Given the description of an element on the screen output the (x, y) to click on. 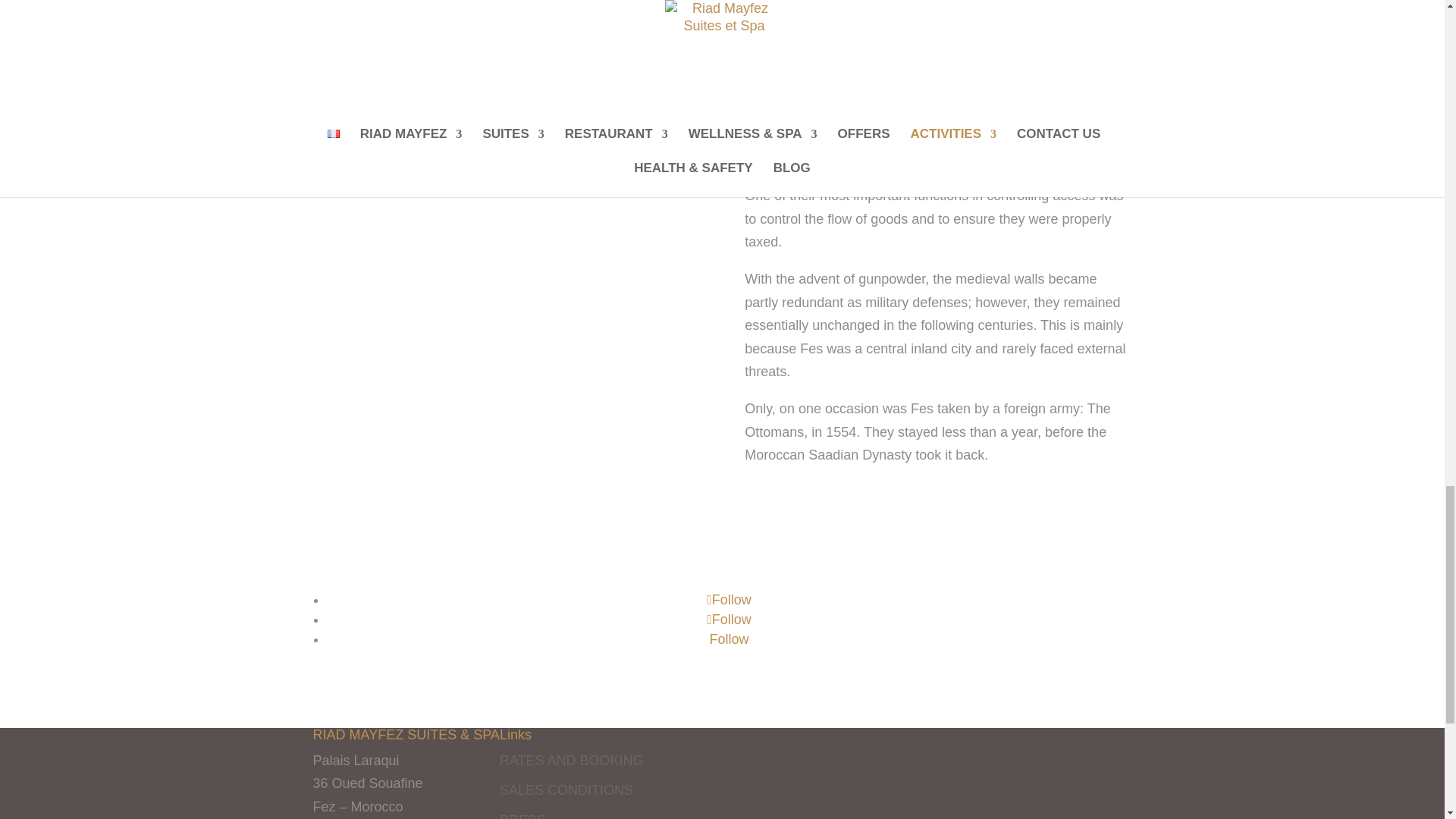
Follow on Instagram (728, 619)
Follow on Facebook (728, 599)
Follow on LinkedIn (728, 639)
